Given the description of an element on the screen output the (x, y) to click on. 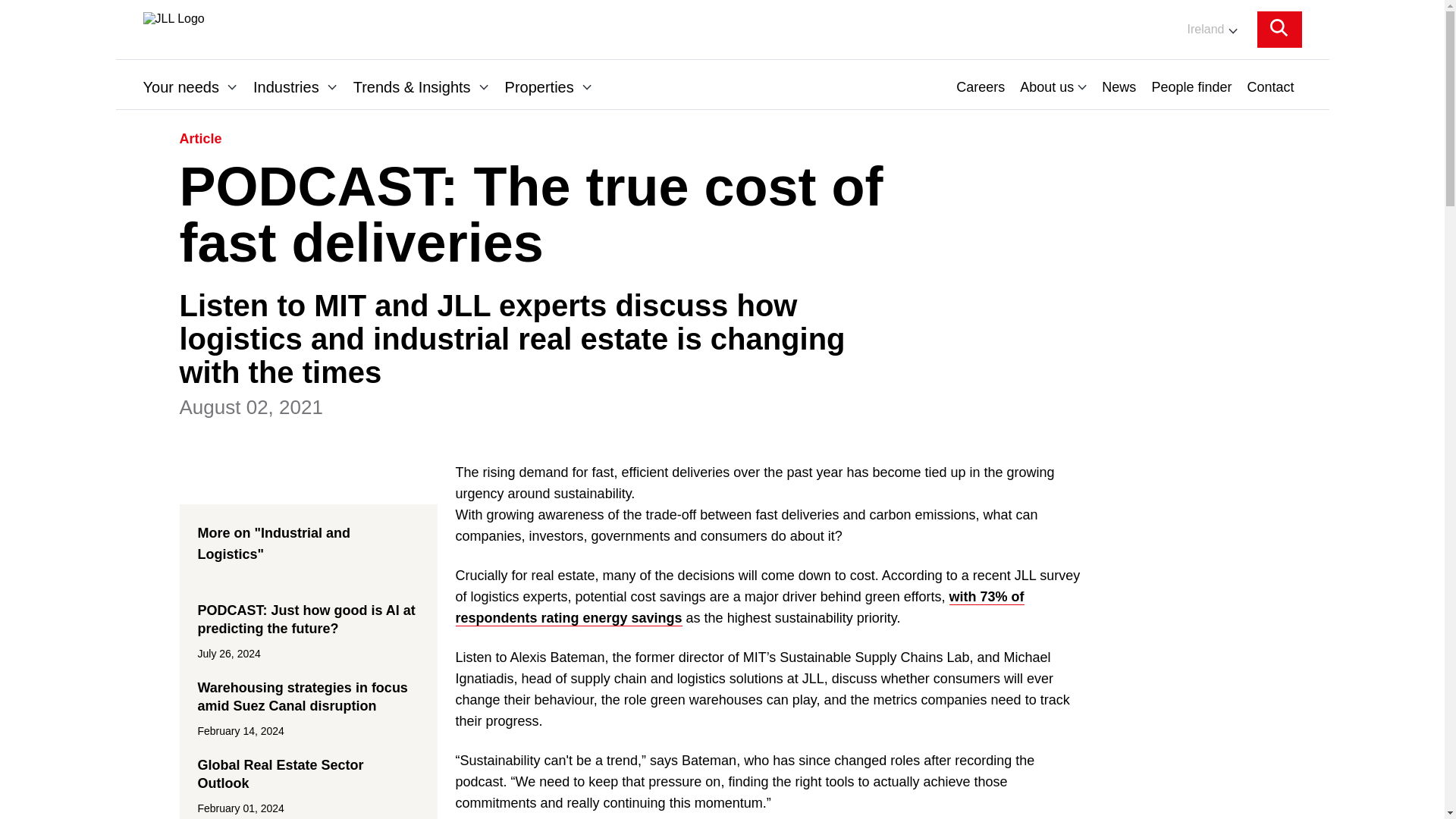
Ireland (1201, 29)
